Given the description of an element on the screen output the (x, y) to click on. 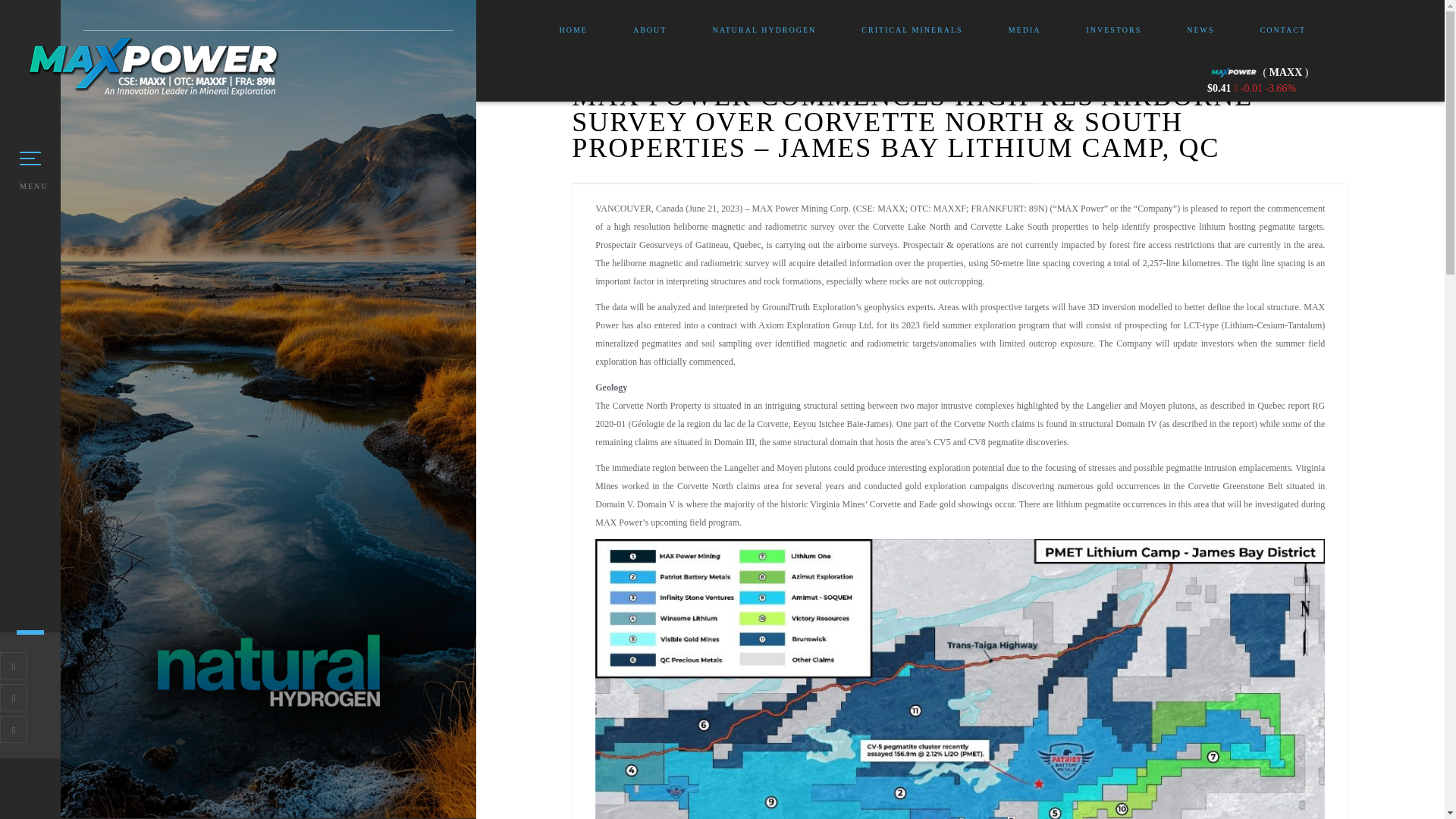
CRITICAL MINERALS (911, 29)
HOME (573, 29)
HOME (573, 29)
INVESTORS (1113, 29)
INVESTORS (1113, 29)
MEDIA (1025, 29)
CRITICAL MINERALS (911, 29)
CONTACT (1283, 29)
NEWS (1200, 29)
DISCLAIMER (683, 785)
NATURAL HYDROGEN (763, 29)
NATURAL HYDROGEN (763, 29)
CONTACT (1283, 29)
ABOUT (649, 29)
